Given the description of an element on the screen output the (x, y) to click on. 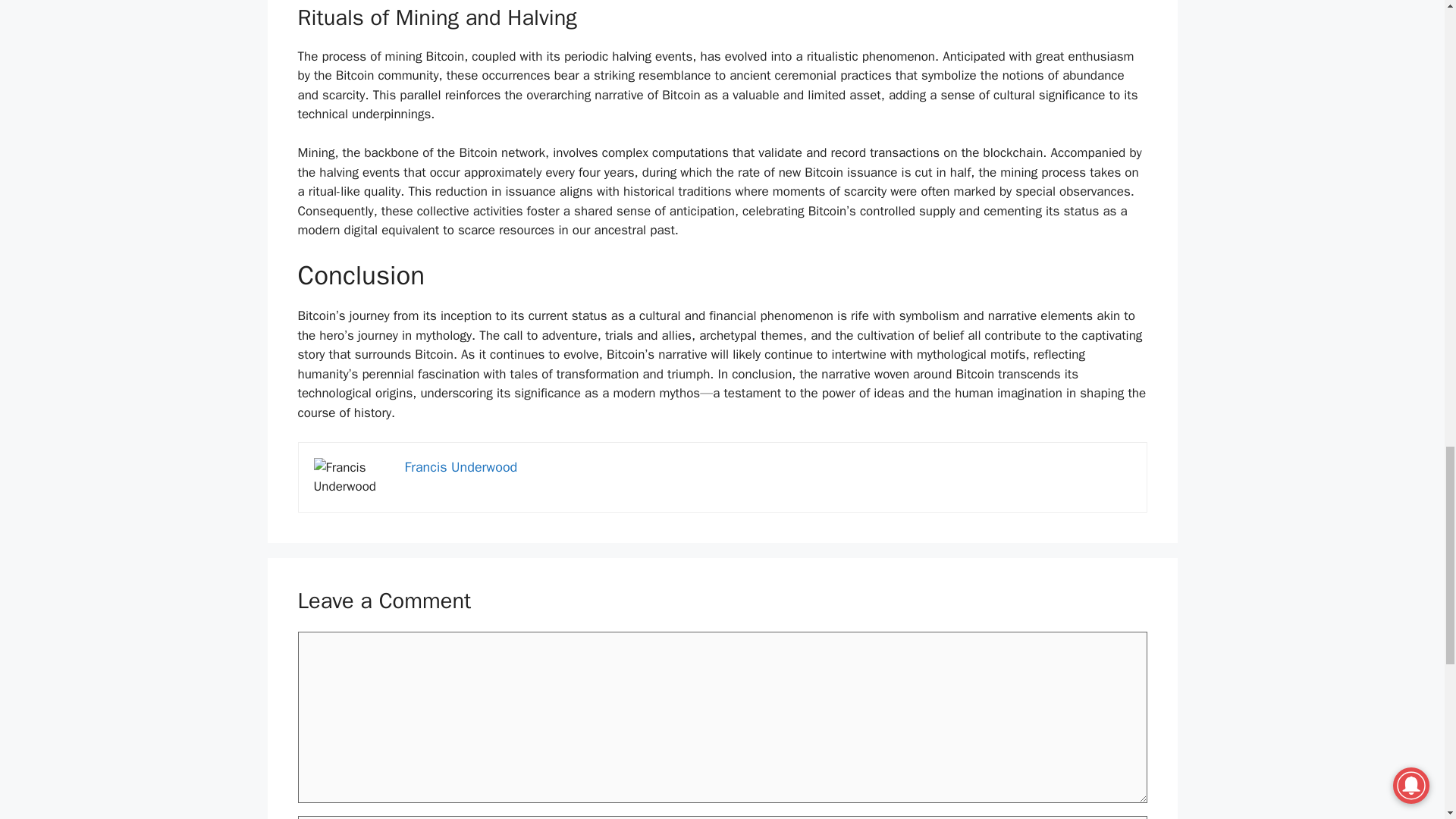
Francis Underwood (461, 466)
